Given the description of an element on the screen output the (x, y) to click on. 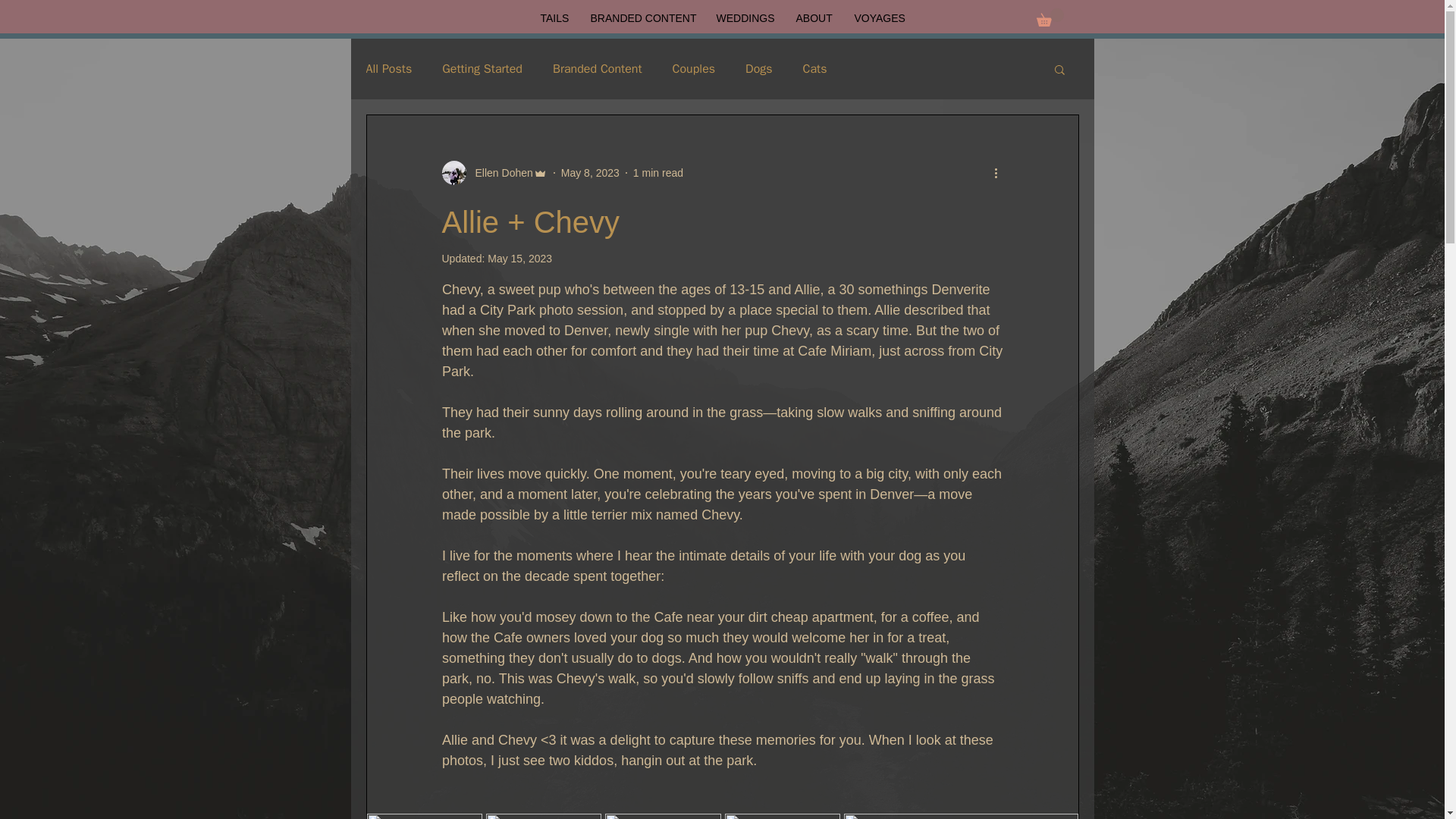
WEDDINGS (744, 18)
Log In (1013, 57)
May 15, 2023 (519, 258)
VOYAGES (879, 18)
Ellen Dohen (494, 172)
Getting Started (482, 68)
Ellen Dohen (498, 172)
All Posts (388, 68)
Branded Content (597, 68)
TAILS (554, 18)
